Given the description of an element on the screen output the (x, y) to click on. 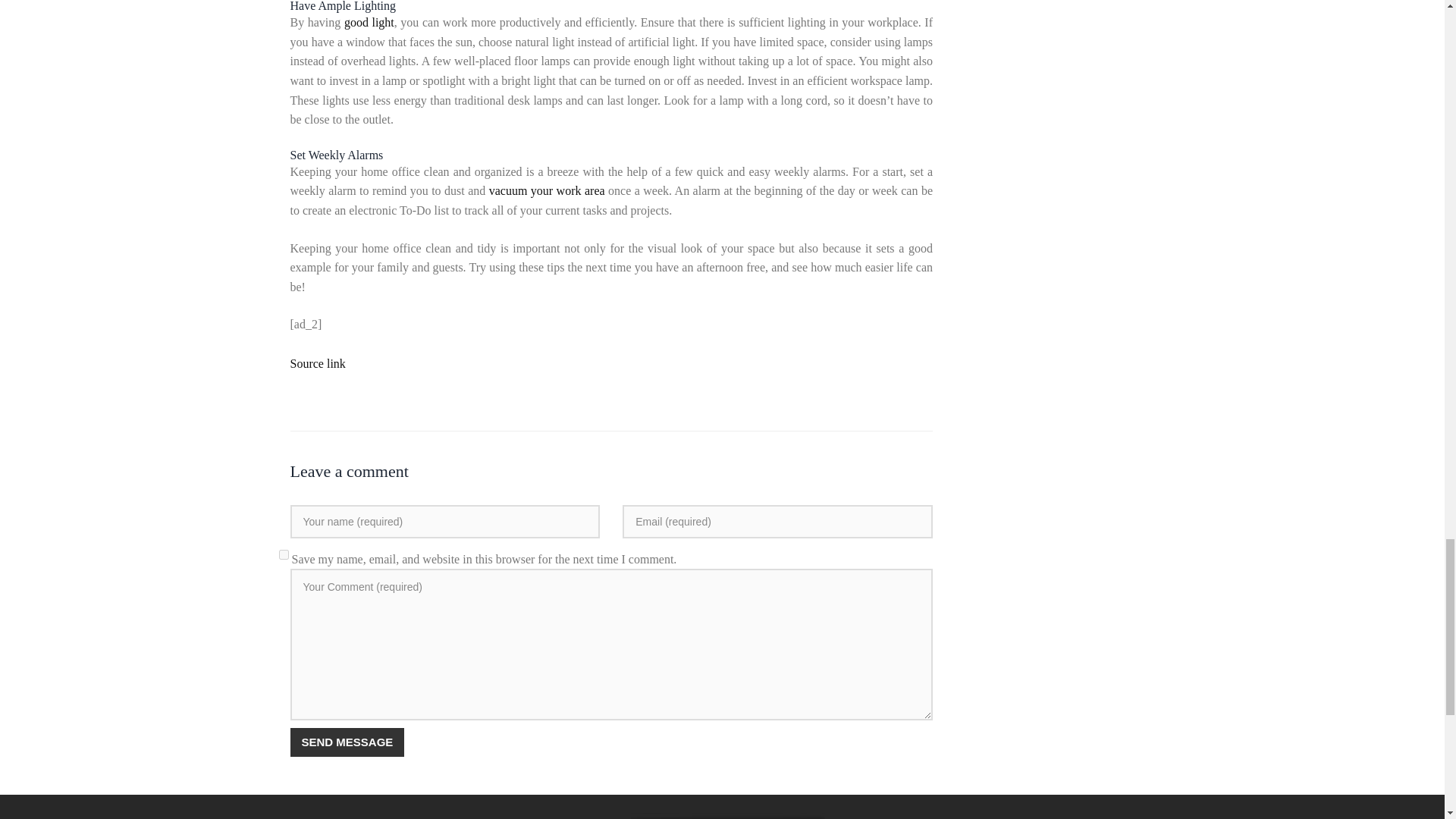
Send Message (346, 742)
yes (283, 554)
